Given the description of an element on the screen output the (x, y) to click on. 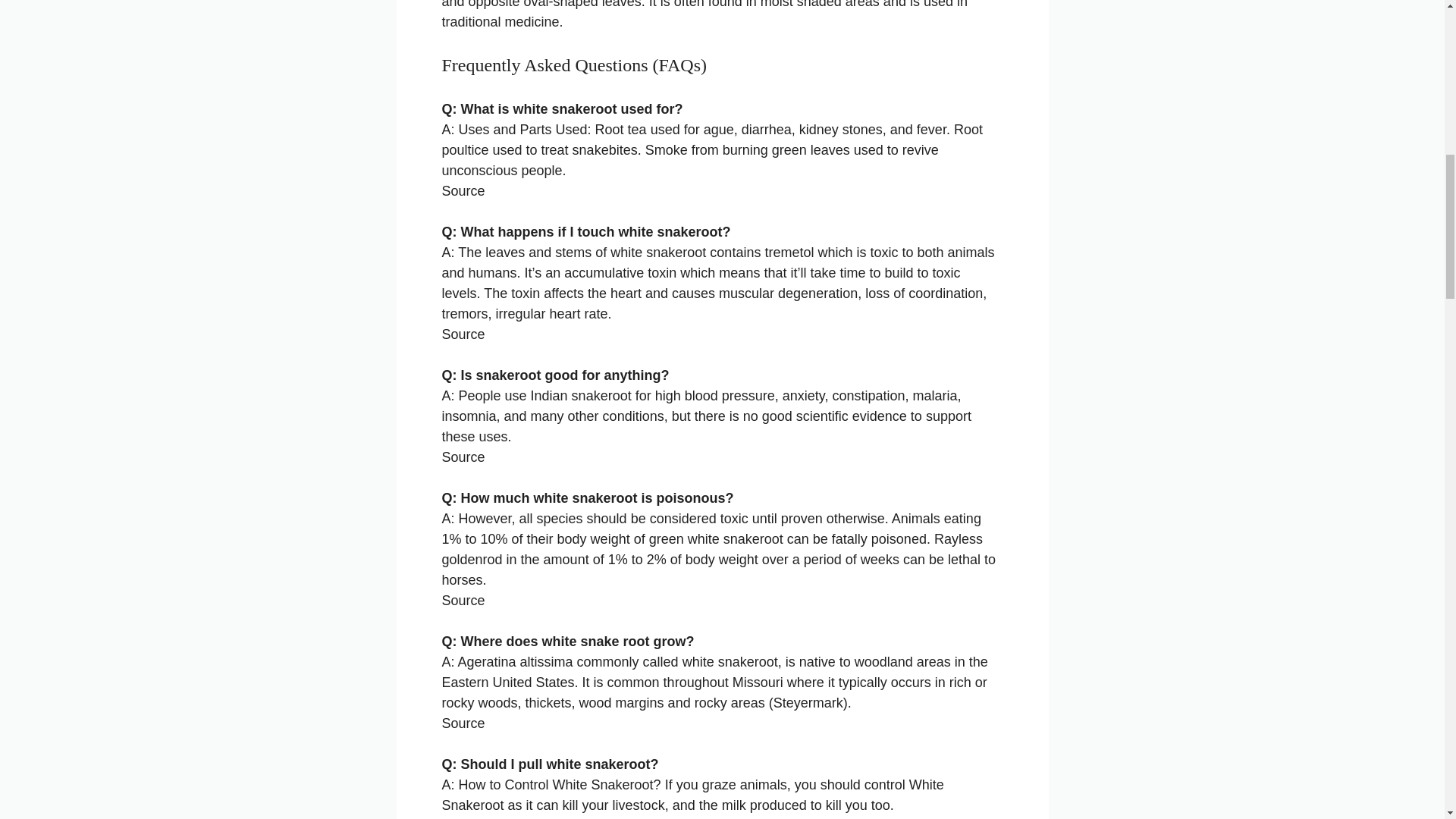
Source (462, 723)
Source (462, 191)
Source (462, 818)
Source (462, 334)
Source (462, 600)
Source (462, 457)
